Given the description of an element on the screen output the (x, y) to click on. 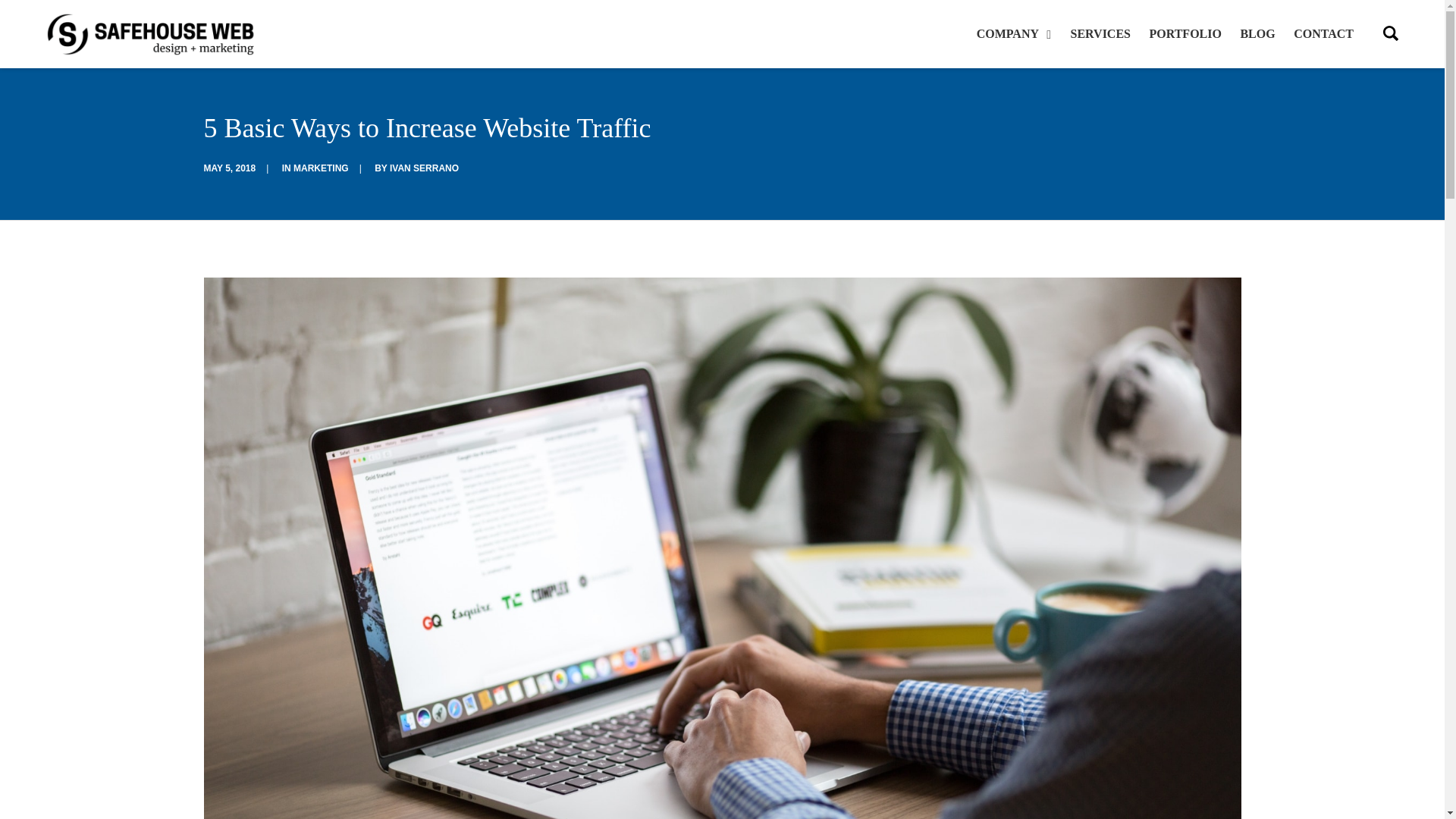
PORTFOLIO (1184, 33)
SERVICES (1100, 33)
CONTACT (1319, 33)
COMPANY (1017, 33)
IVAN SERRANO (424, 167)
MARKETING (321, 167)
